Given the description of an element on the screen output the (x, y) to click on. 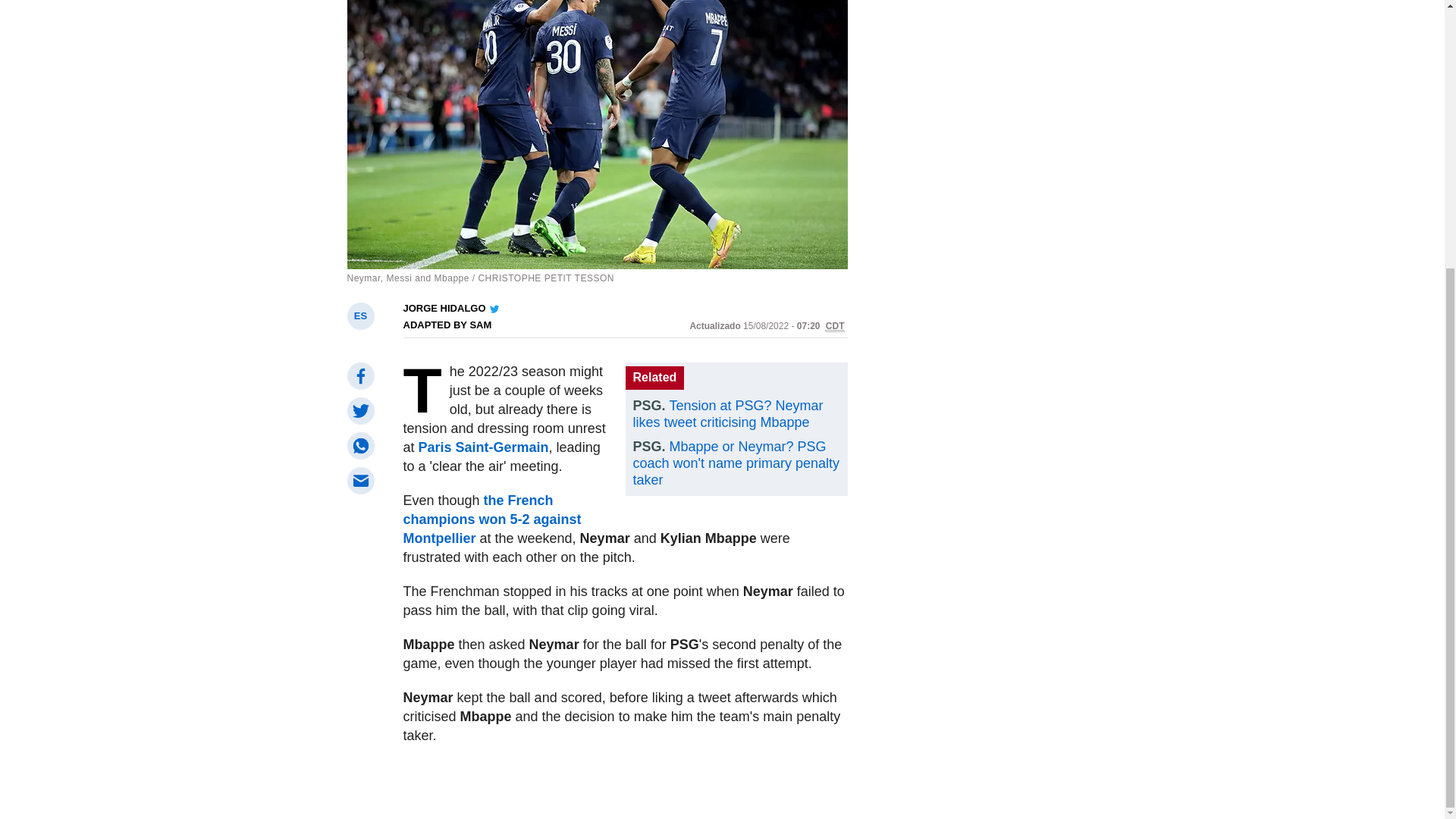
Central Daylight Time (834, 326)
